Given the description of an element on the screen output the (x, y) to click on. 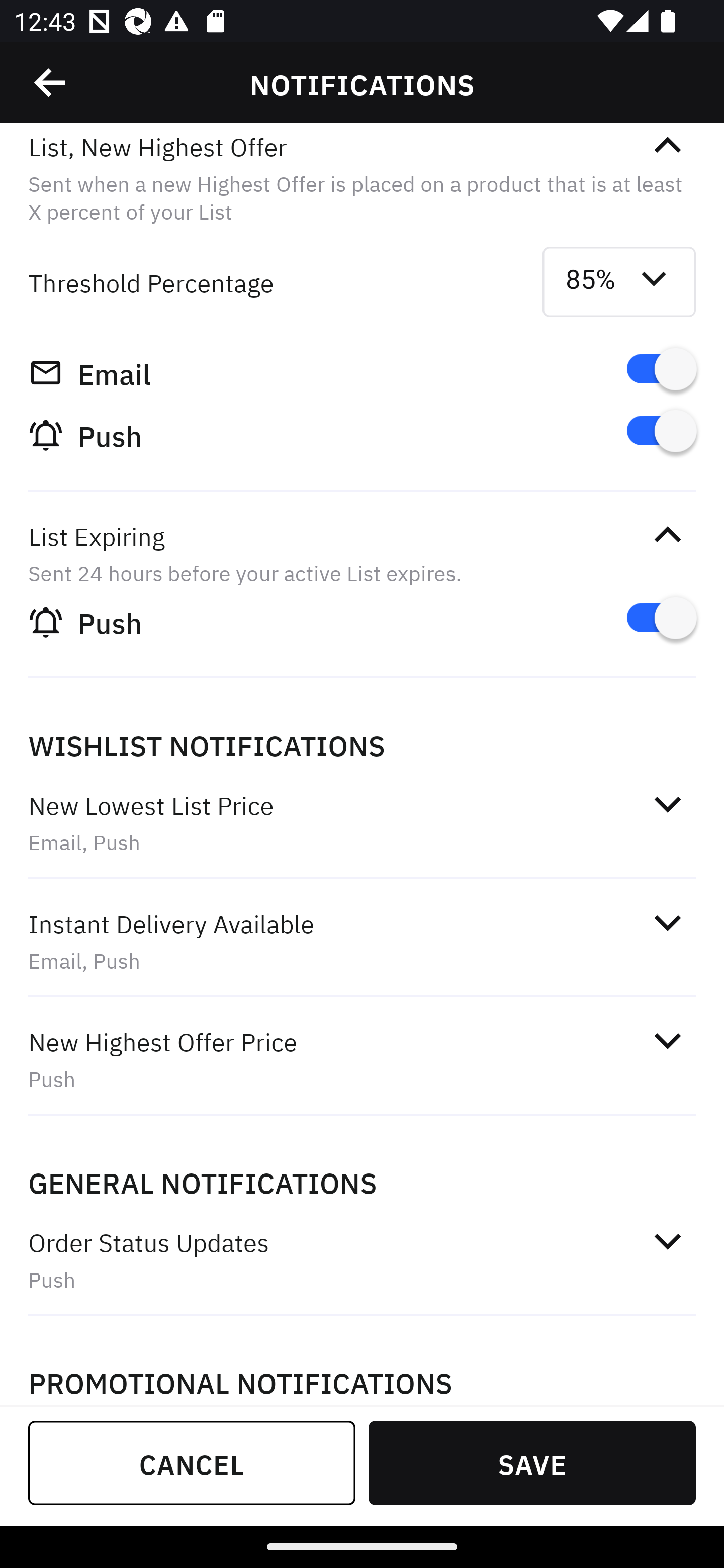
 (50, 83)
 (667, 145)
85%  (619, 282)
 (667, 535)
New Lowest List Price  Email, Push (361, 822)
 (667, 803)
Instant Delivery Available  Email, Push (361, 941)
 (667, 922)
New Highest Offer Price  Push (361, 1059)
 (667, 1040)
Order Status Updates  Push (361, 1259)
 (667, 1240)
CANCEL (191, 1462)
SAVE (531, 1462)
